Given the description of an element on the screen output the (x, y) to click on. 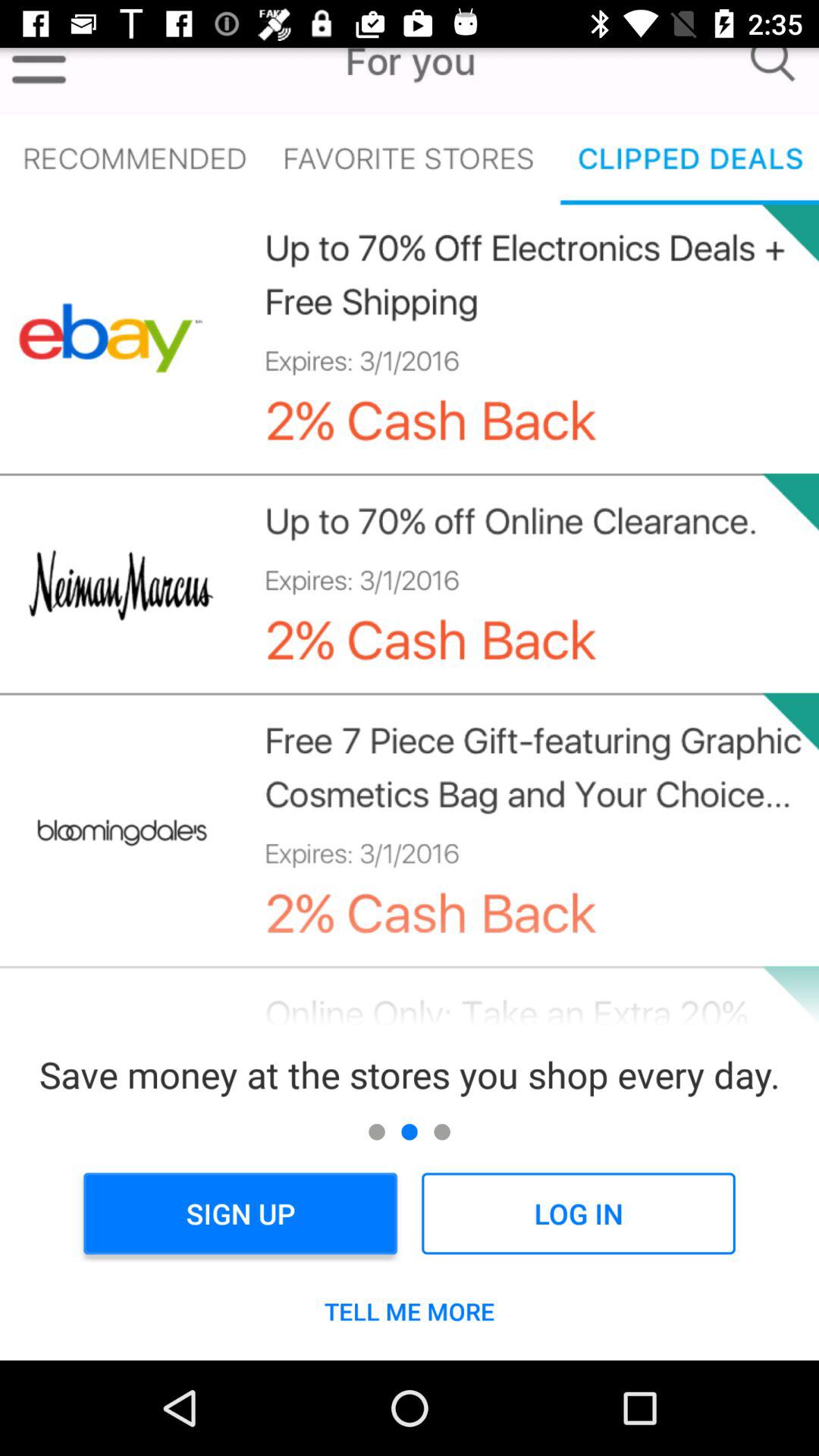
click the icon below the sign up (409, 1311)
